Given the description of an element on the screen output the (x, y) to click on. 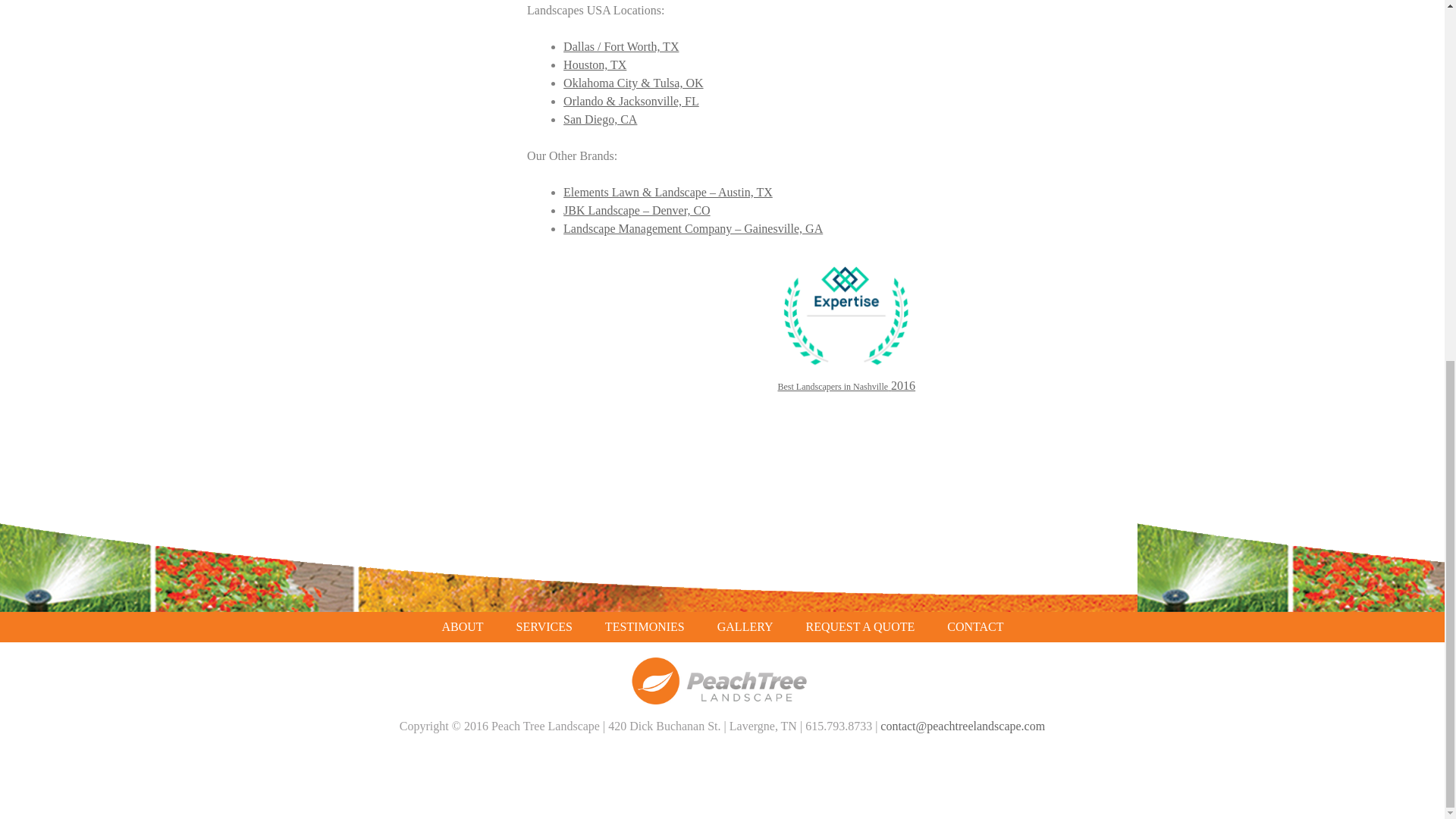
San Diego, CA (600, 119)
Peach Tree Landscape (721, 699)
ABOUT (461, 626)
Houston, TX (594, 64)
Best Landscapers in Nashville 2016 (846, 324)
